Given the description of an element on the screen output the (x, y) to click on. 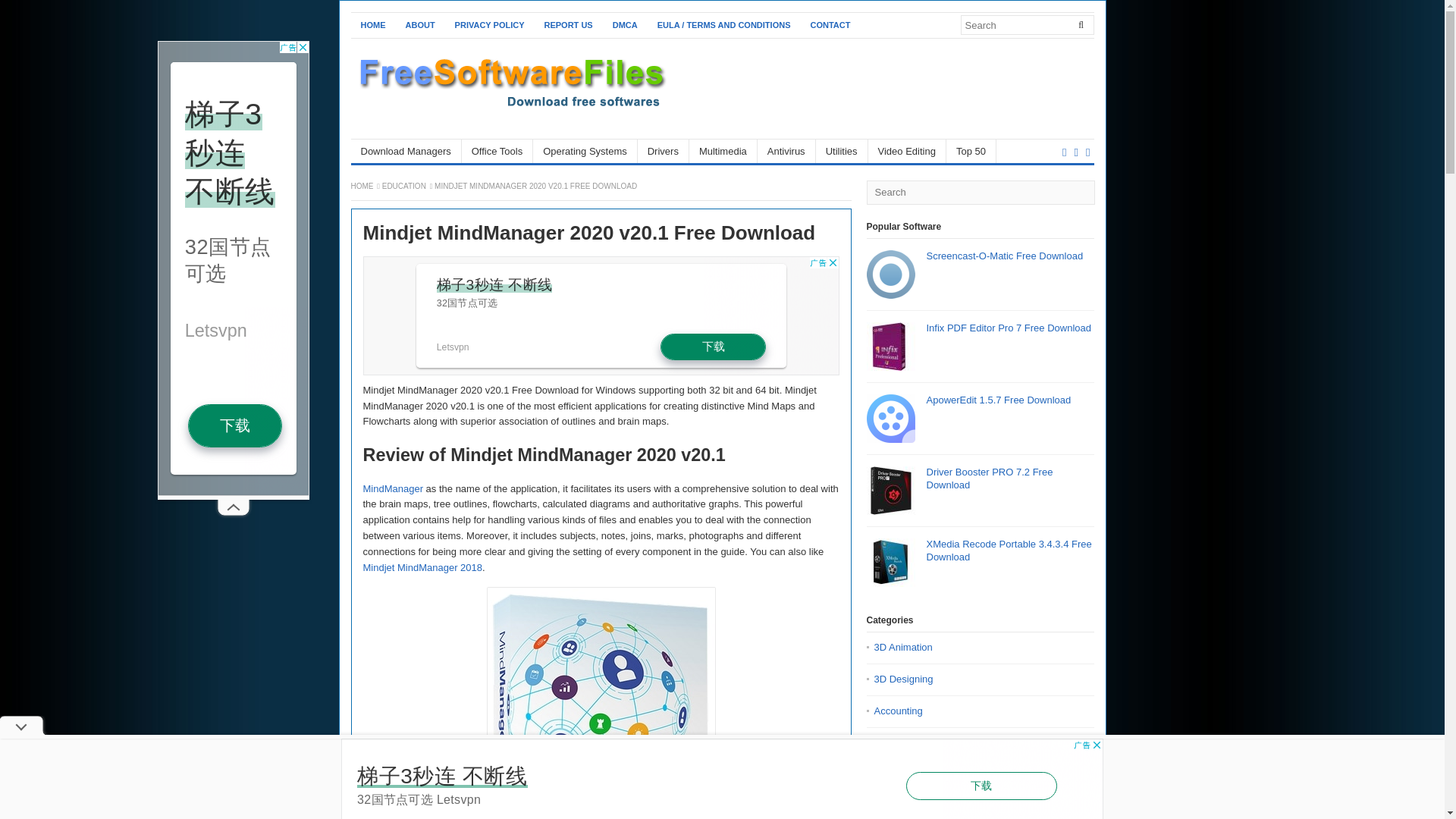
CONTACT (829, 24)
HOME (372, 24)
ABOUT (420, 24)
Office Tools (496, 150)
Utilities (841, 150)
PRIVACY POLICY (489, 24)
Download Managers (405, 150)
